Given the description of an element on the screen output the (x, y) to click on. 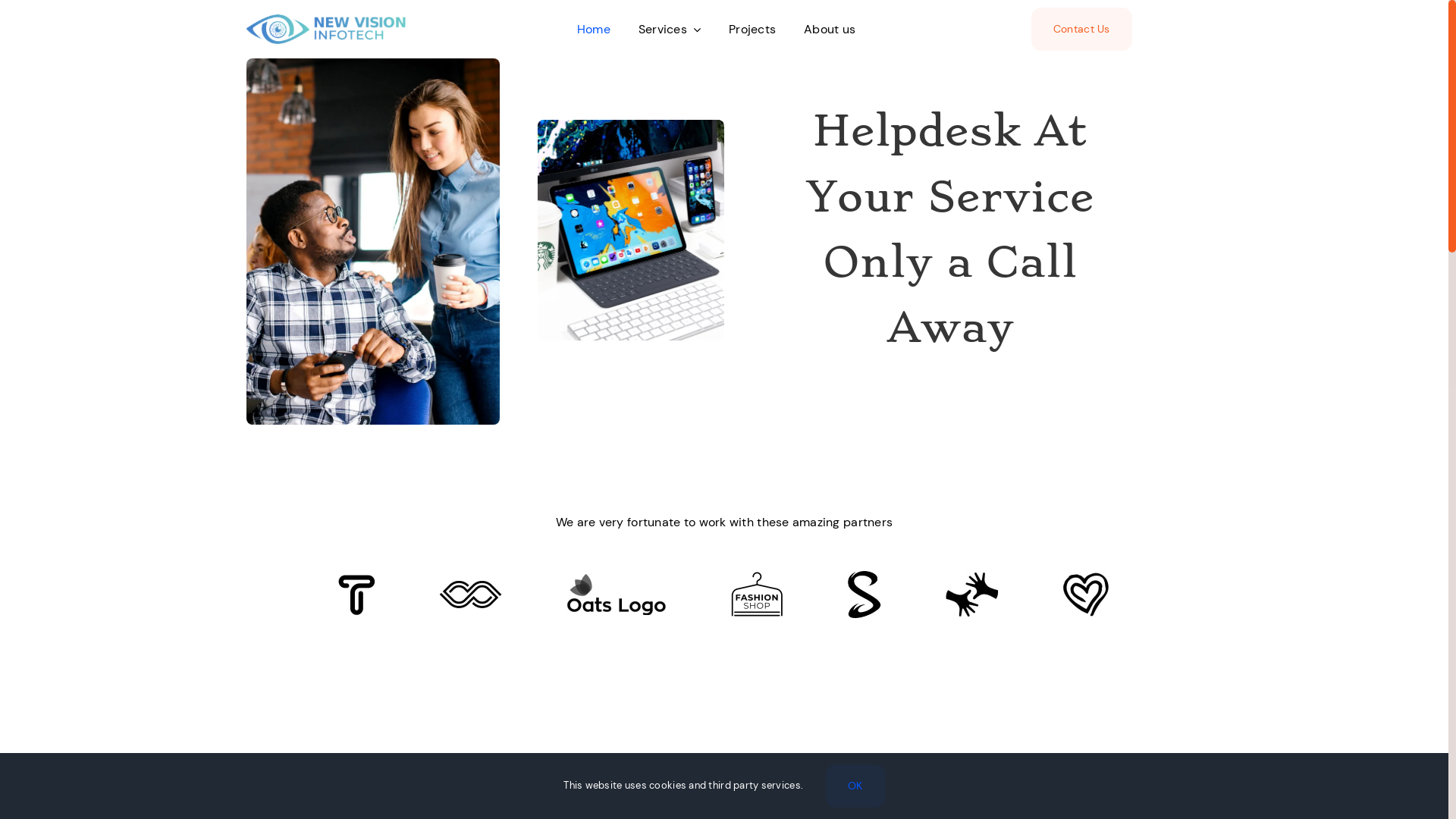
About us Element type: text (829, 28)
Services Element type: text (669, 28)
Ipad Element type: hover (630, 229)
Projects Element type: text (751, 28)
Contact Us Element type: text (1081, 28)
Home Element type: text (593, 28)
OK Element type: text (854, 785)
Team working Element type: hover (372, 241)
